Given the description of an element on the screen output the (x, y) to click on. 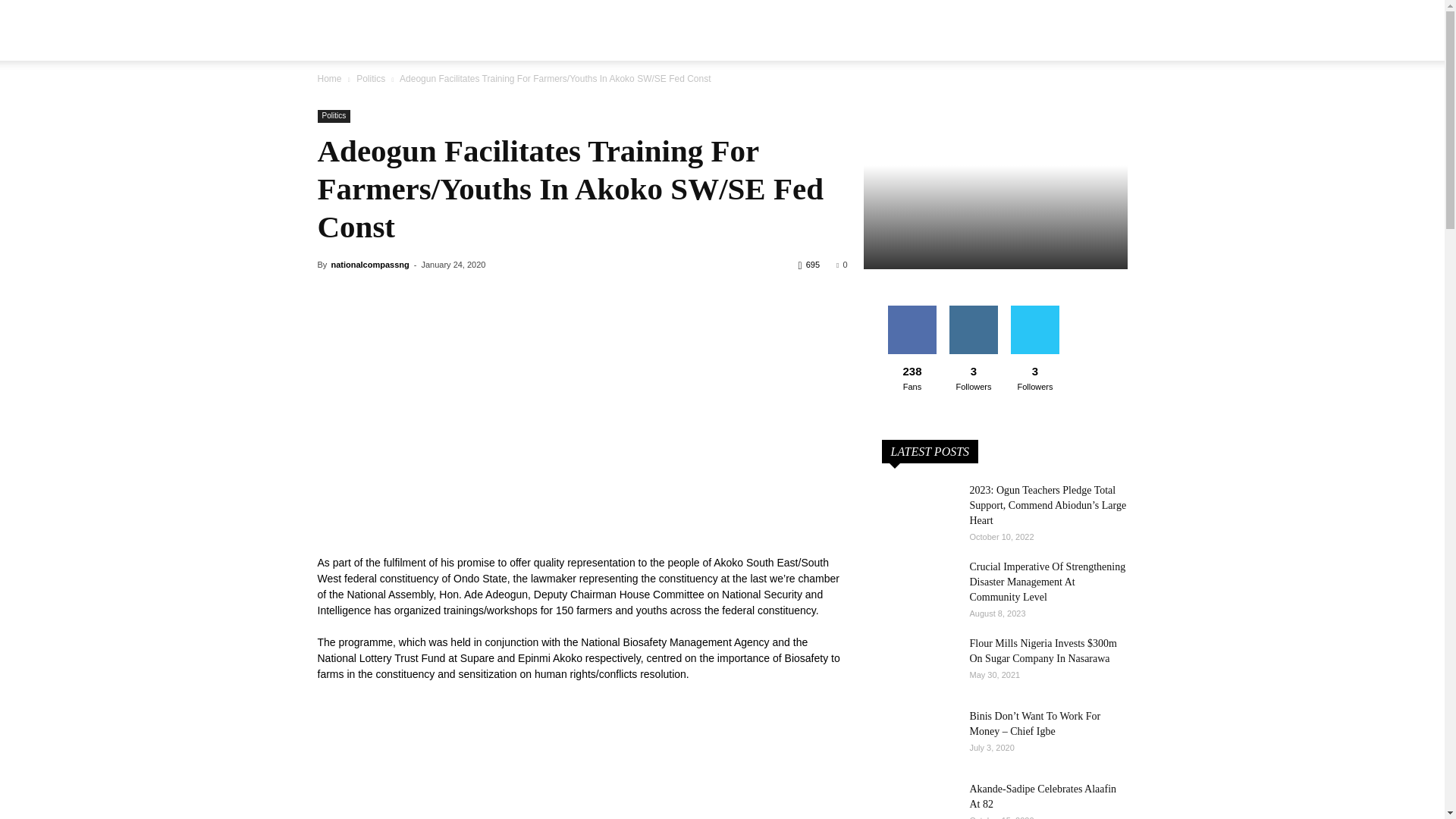
LOCAL NEWS (560, 26)
